Given the description of an element on the screen output the (x, y) to click on. 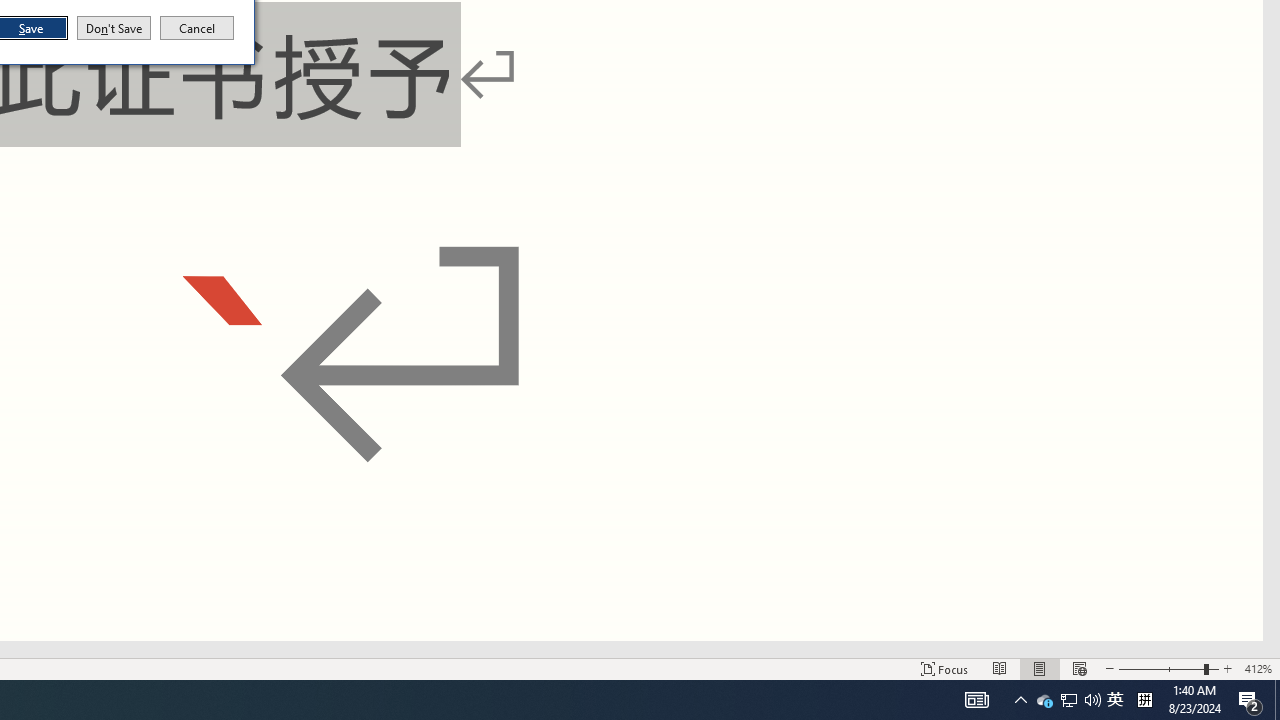
User Promoted Notification Area (1068, 699)
Notification Chevron (1020, 699)
Action Center, 2 new notifications (1044, 699)
Zoom (1250, 699)
Q2790: 100% (1168, 668)
Zoom 412% (1092, 699)
AutomationID: 4105 (1258, 668)
